Given the description of an element on the screen output the (x, y) to click on. 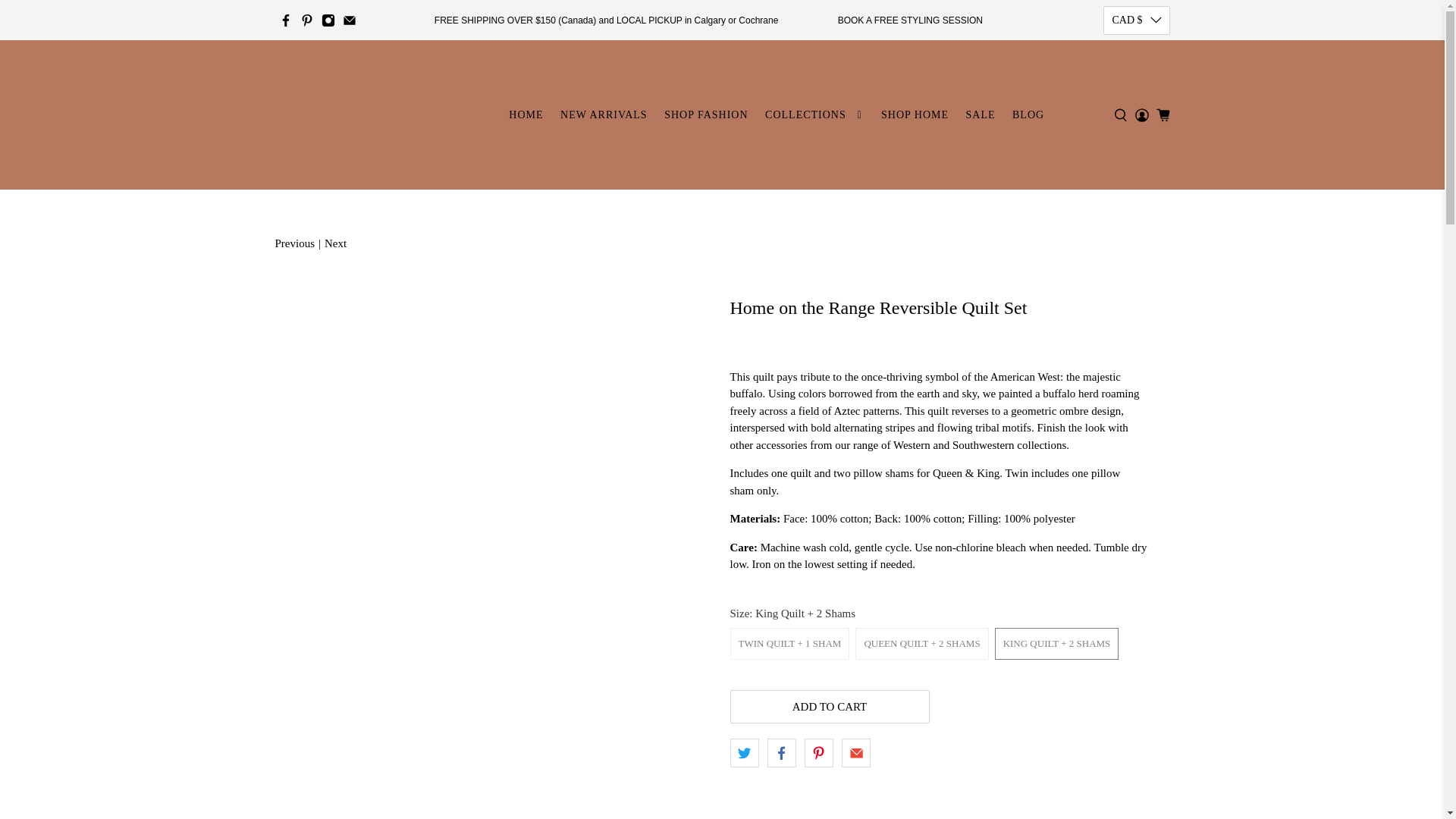
Cody and Sioux on Instagram (327, 20)
BDT (1136, 329)
CZK (1136, 712)
CNY (1136, 629)
BND (1136, 411)
Cody and Sioux (359, 114)
CAD (1136, 547)
CDF (1136, 574)
Share this on Twitter (743, 752)
BOB (1136, 438)
